Given the description of an element on the screen output the (x, y) to click on. 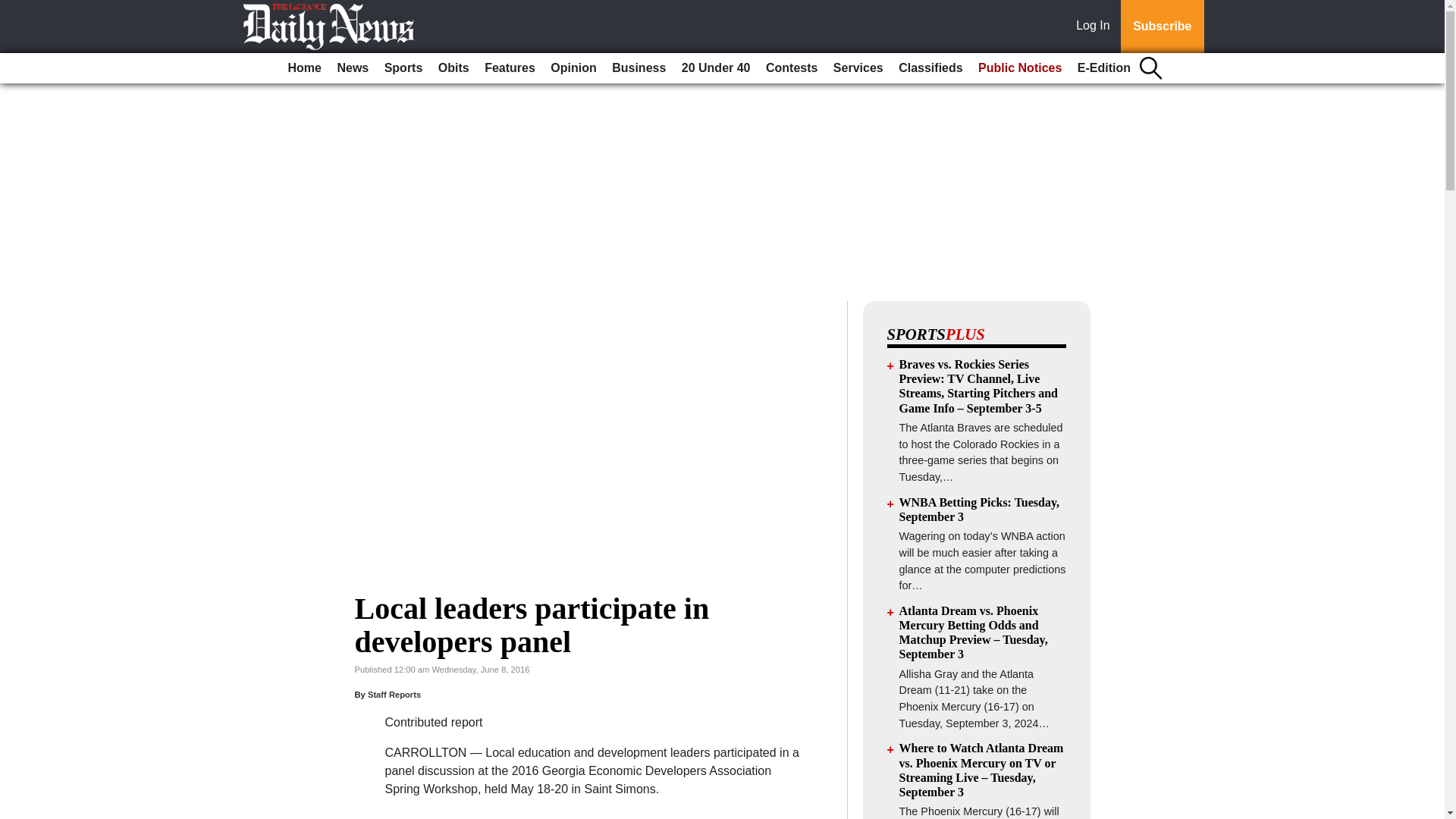
Classifieds (930, 68)
WNBA Betting Picks: Tuesday, September 3 (979, 509)
Obits (454, 68)
Home (304, 68)
Sports (403, 68)
Services (858, 68)
Staff Reports (394, 694)
Opinion (573, 68)
E-Edition (1104, 68)
Business (638, 68)
